Given the description of an element on the screen output the (x, y) to click on. 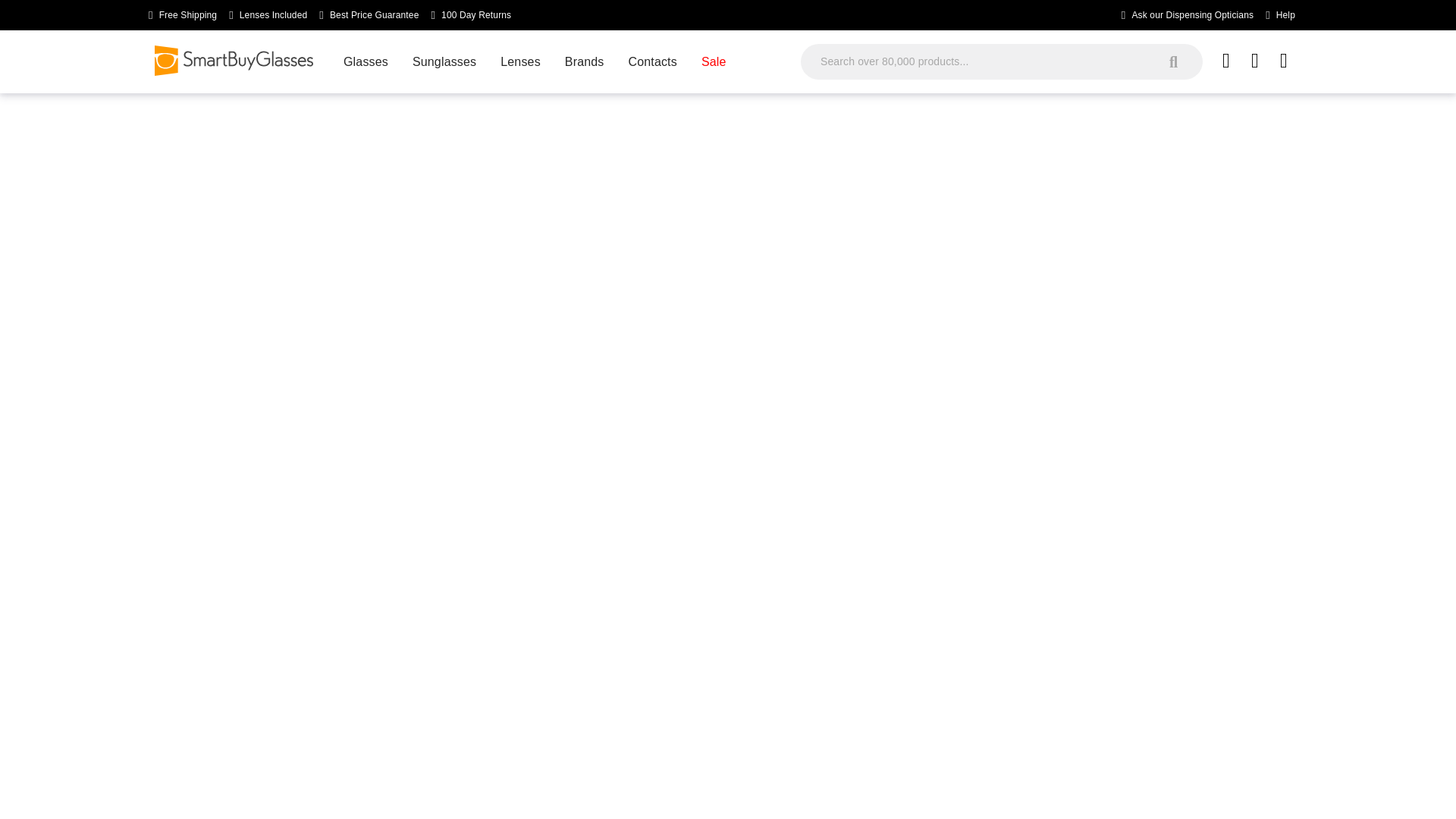
Sunglasses (443, 61)
Glasses (365, 61)
Contacts (651, 61)
Lenses (520, 61)
Sale (713, 61)
Brands (584, 61)
